Given the description of an element on the screen output the (x, y) to click on. 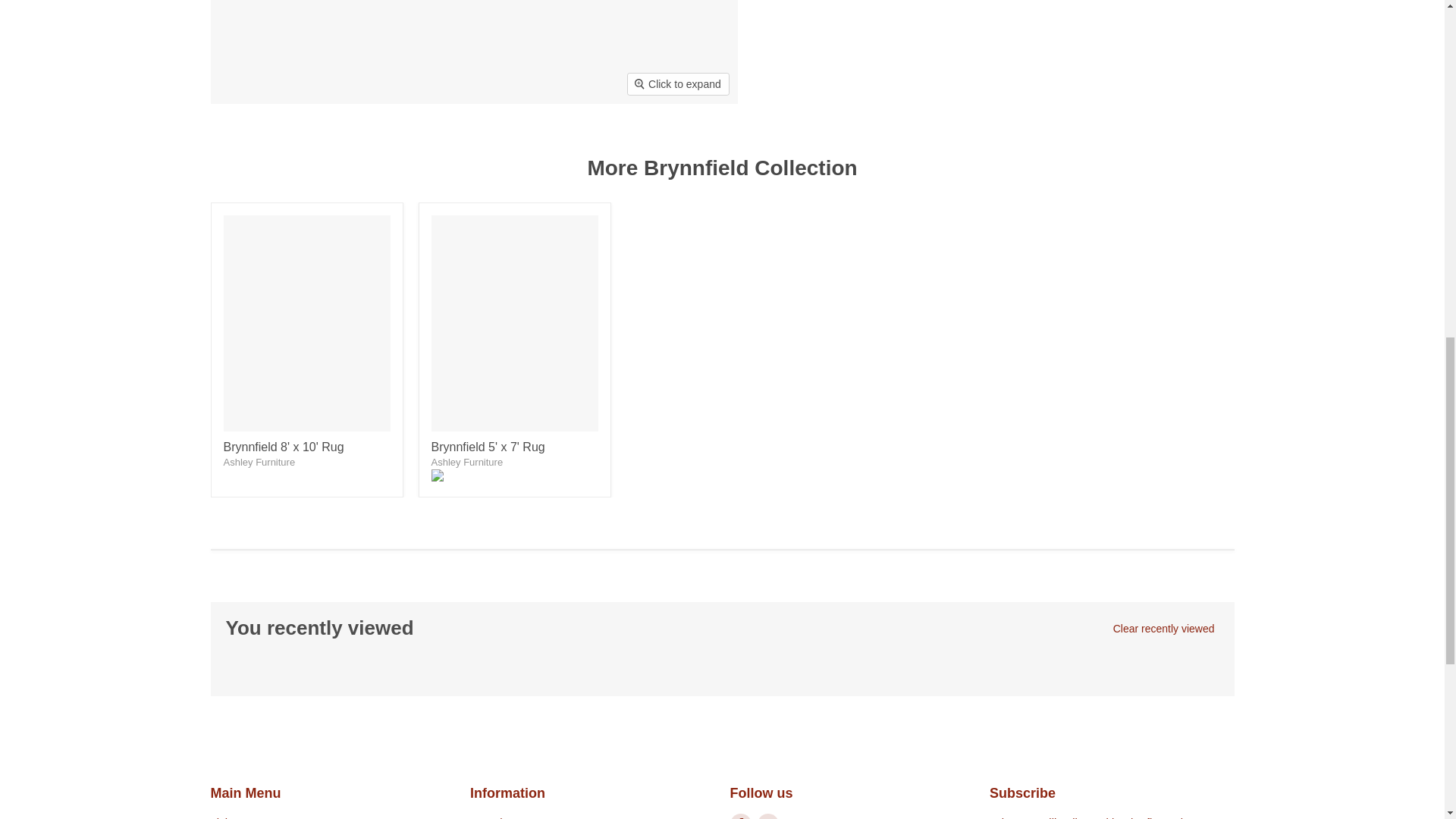
Ashley Furniture (258, 461)
E-mail (767, 816)
Ashley Furniture (466, 461)
Facebook (740, 816)
